Given the description of an element on the screen output the (x, y) to click on. 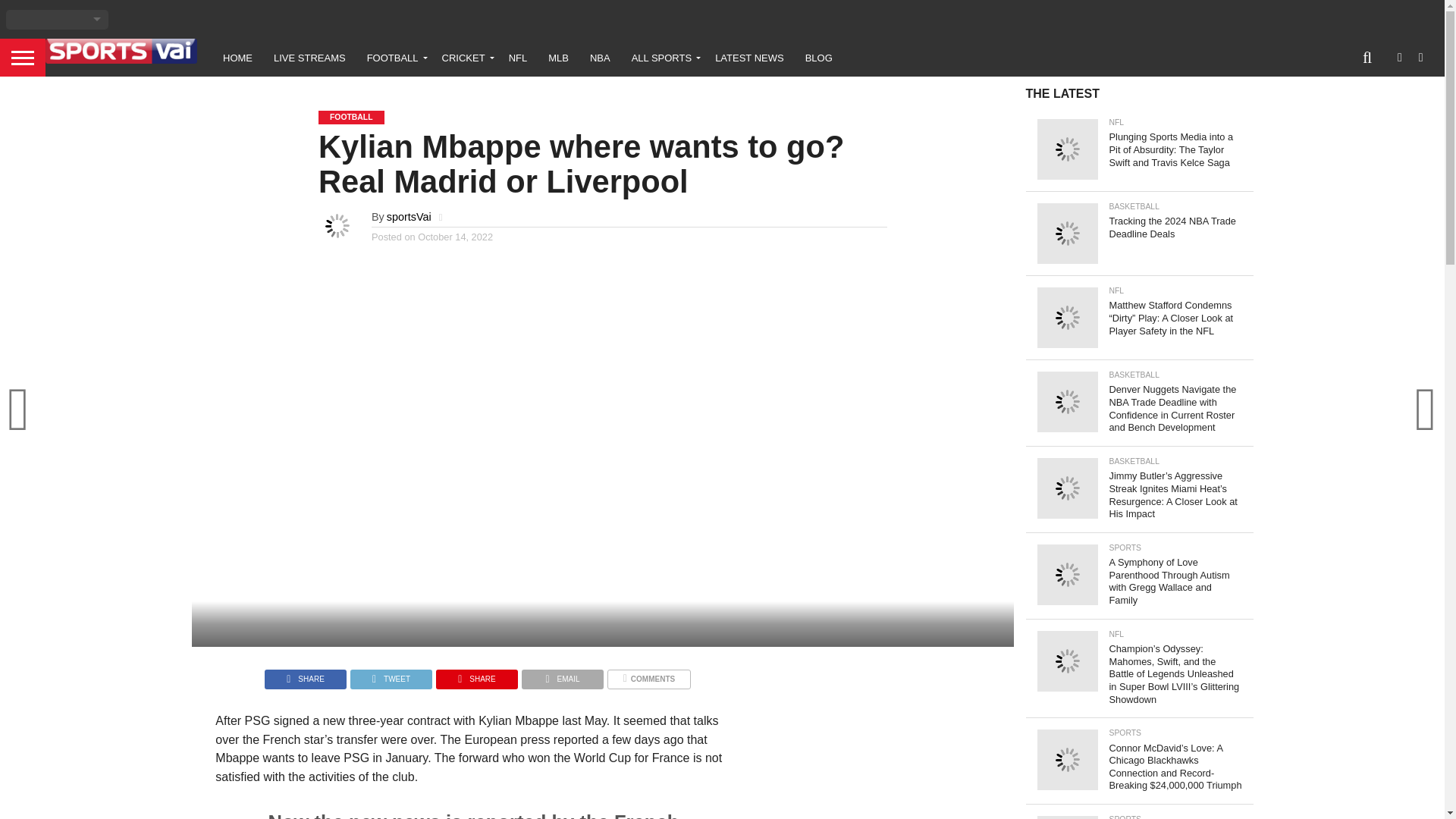
LIVE STREAMS (309, 57)
Pin This Post (476, 675)
Tweet This Post (390, 675)
FOOTBALL (393, 57)
Share on Facebook (305, 675)
HOME (237, 57)
Posts by sportsVai (408, 216)
